Given the description of an element on the screen output the (x, y) to click on. 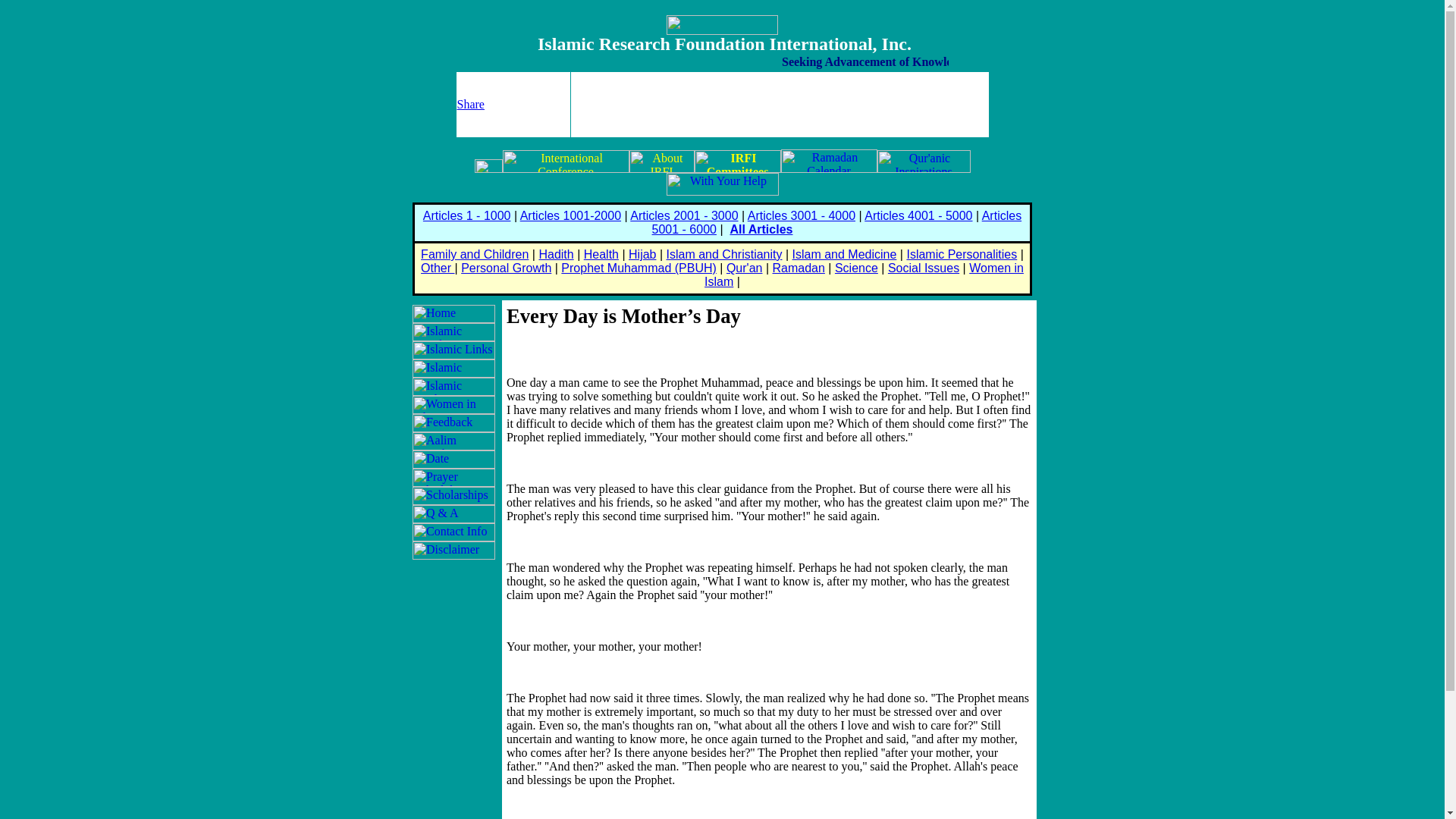
Science (855, 267)
Articles 2001 - 3000 (684, 215)
Articles 3001 - 4000 (802, 215)
Articles 4001 - 5000 (918, 215)
Share (470, 103)
Social Issues (923, 267)
Islam and Christianity (724, 254)
Health (600, 254)
Articles 1 - 1000 (467, 215)
Islamic Personalities (960, 254)
Hadith (555, 254)
Hijab (642, 254)
All Articles (760, 228)
Articles 1001-2000 (570, 215)
Personal Growth (506, 267)
